Given the description of an element on the screen output the (x, y) to click on. 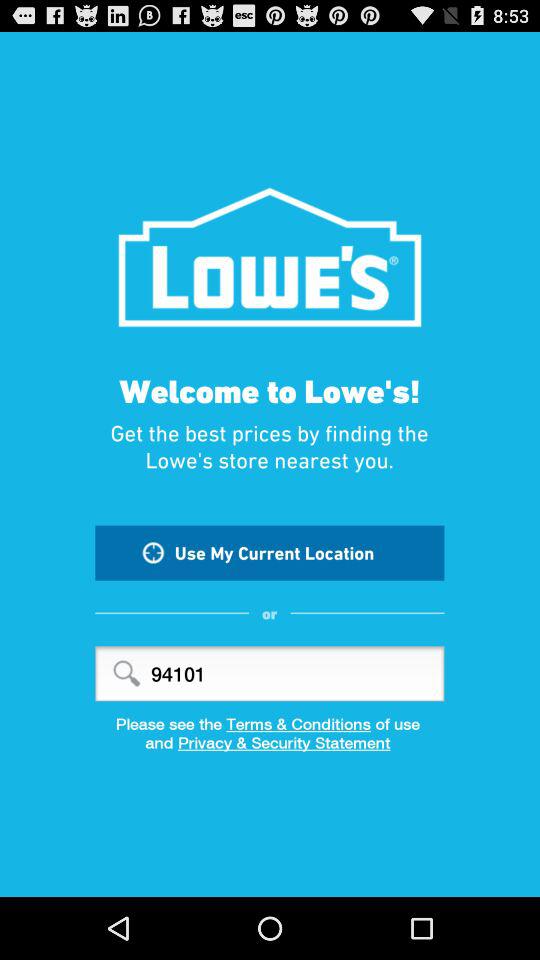
turn off use my current item (269, 552)
